Given the description of an element on the screen output the (x, y) to click on. 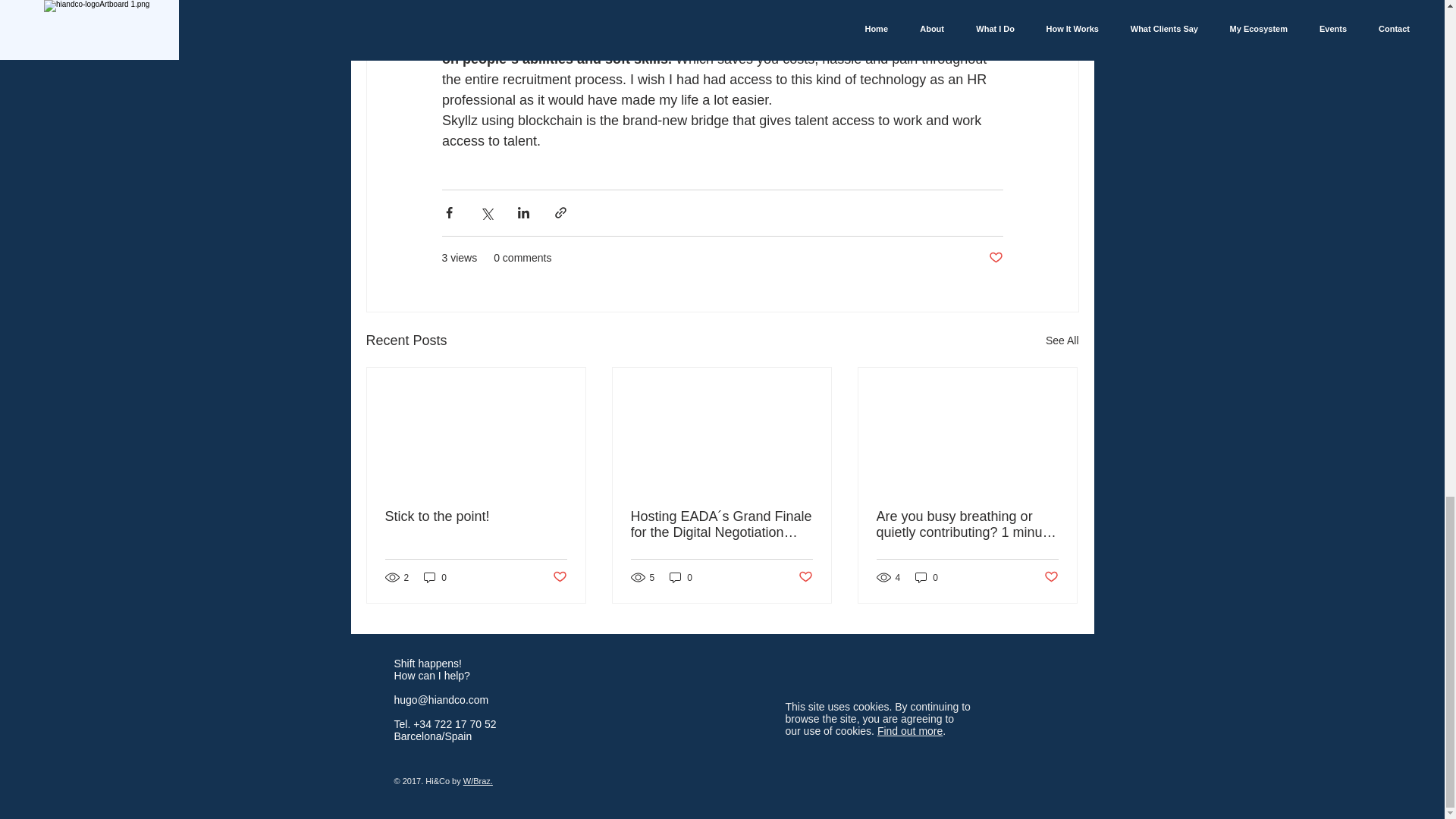
Post not marked as liked (804, 577)
See All (1061, 341)
0 (926, 577)
Find out more (909, 730)
Skyllz (681, 38)
Post not marked as liked (1050, 577)
Stick to the point! (476, 516)
0 (435, 577)
Post not marked as liked (558, 577)
Post not marked as liked (995, 258)
0 (681, 577)
